Given the description of an element on the screen output the (x, y) to click on. 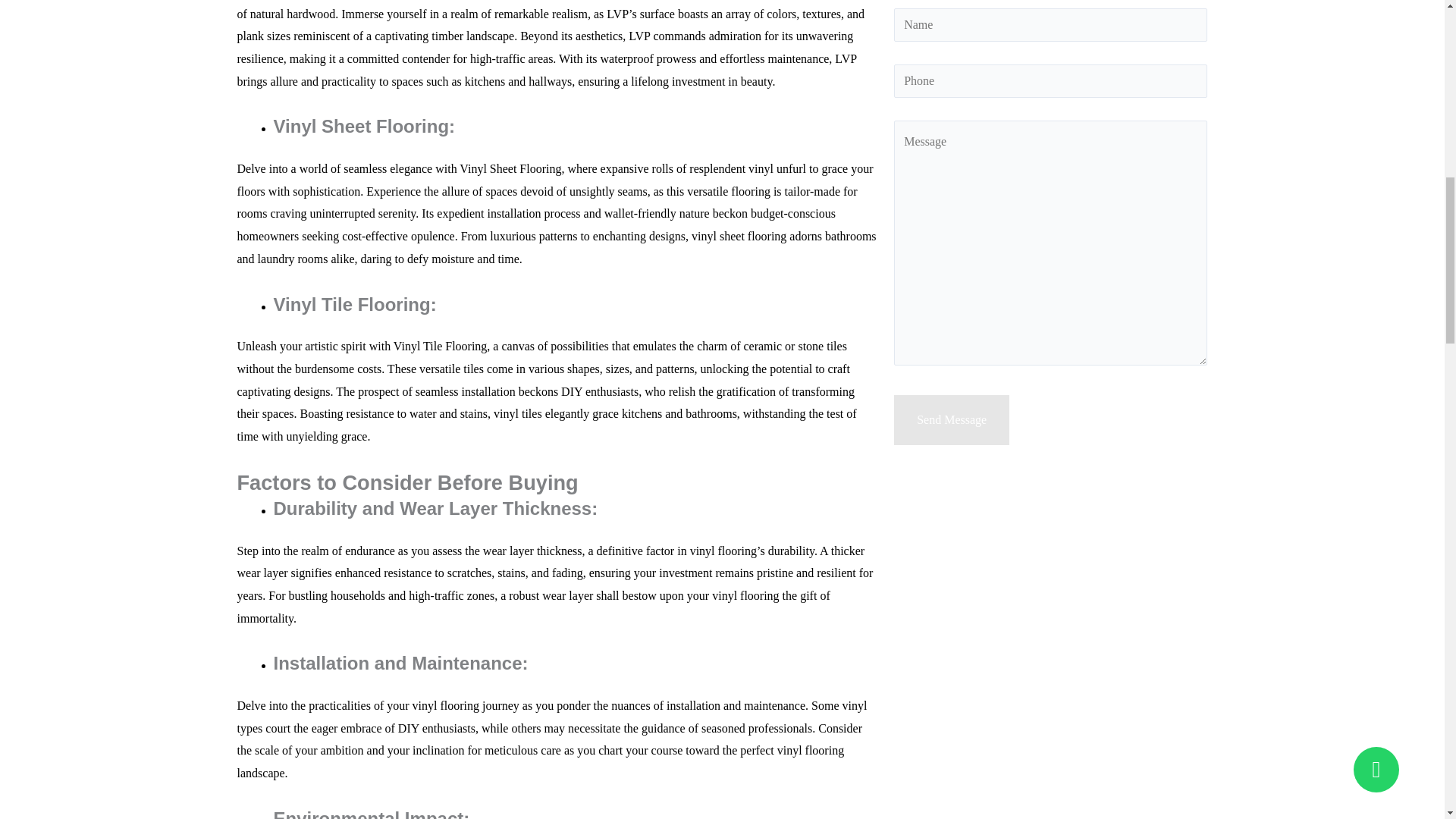
Send Message (951, 419)
